Given the description of an element on the screen output the (x, y) to click on. 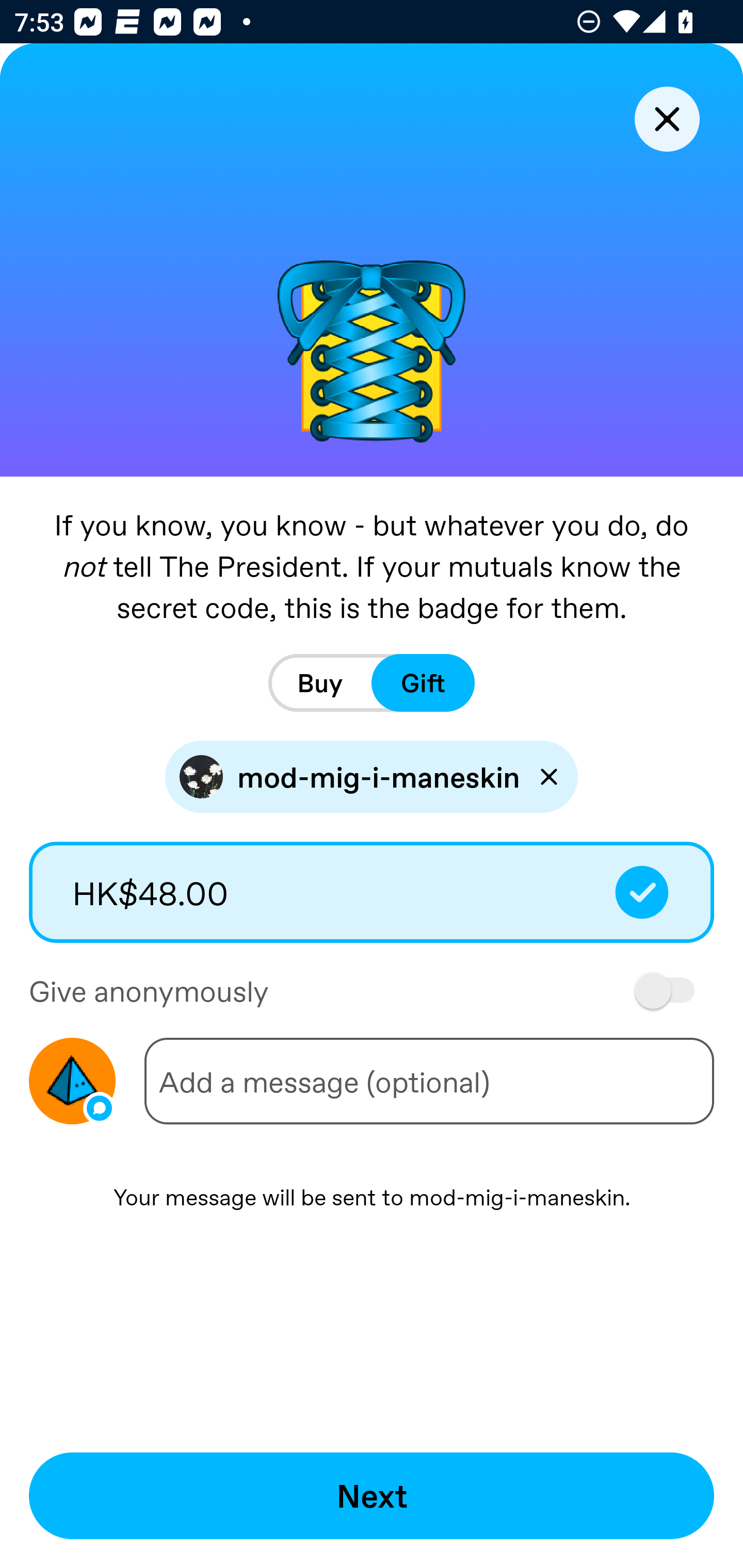
Buy (319, 682)
Gift (423, 682)
Add a message (optional) (429, 1081)
Next (371, 1495)
